Given the description of an element on the screen output the (x, y) to click on. 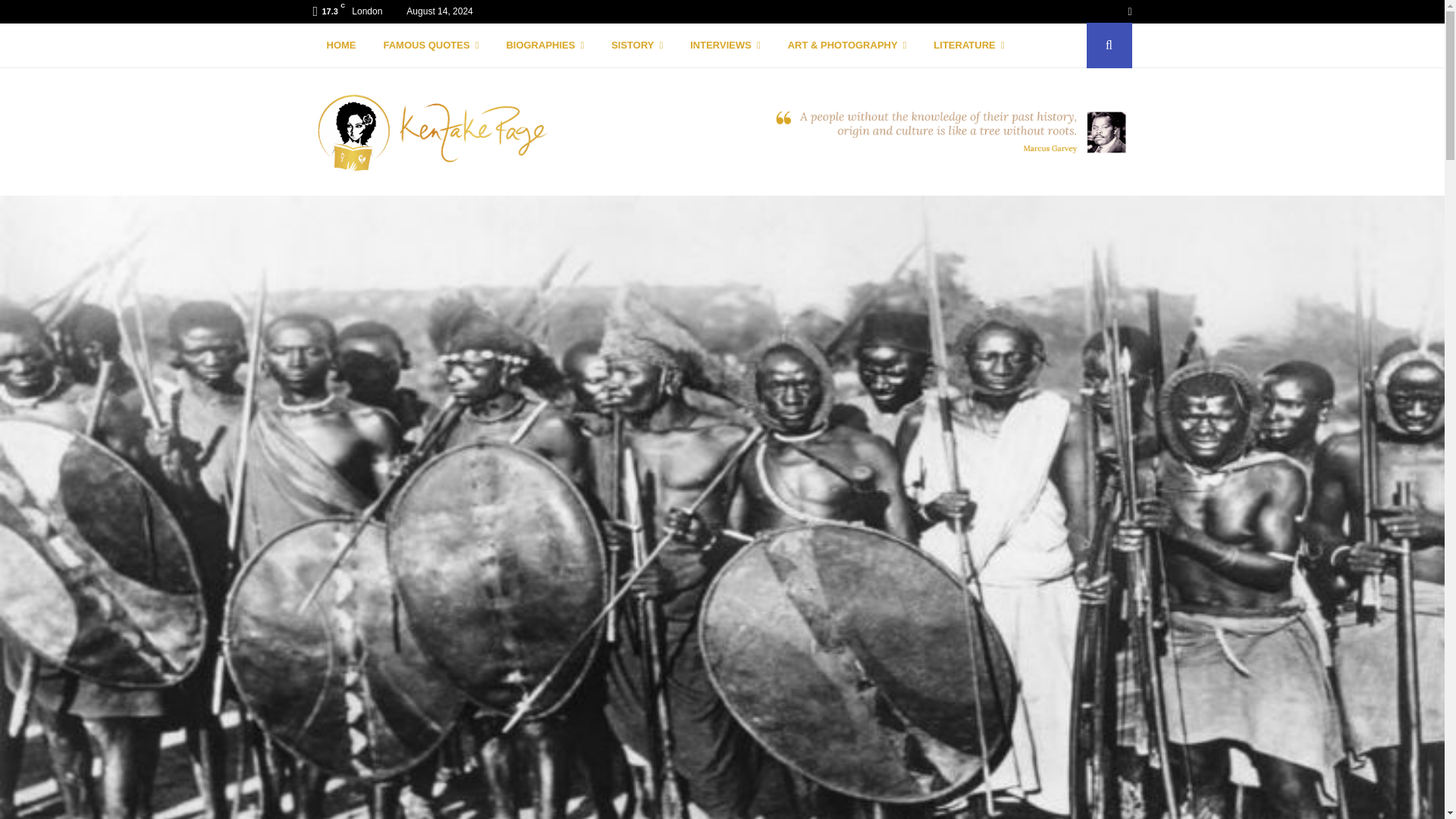
HOME (341, 44)
BIOGRAPHIES (544, 44)
FAMOUS QUOTES (431, 44)
